Given the description of an element on the screen output the (x, y) to click on. 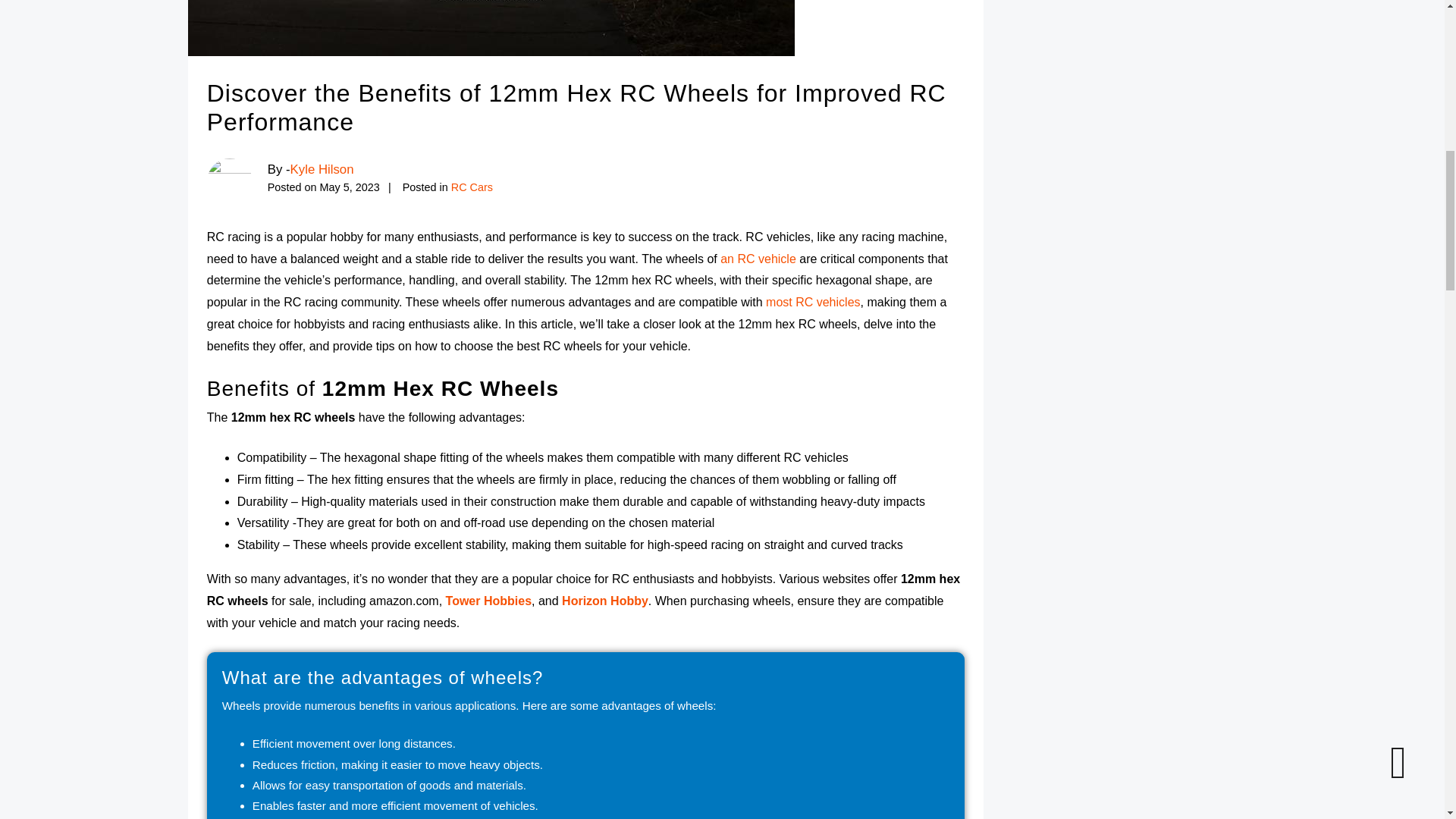
most RC vehicles (812, 301)
an RC vehicle (758, 258)
Kyle Hilson (321, 169)
RC Cars (472, 186)
Horizon Hobby (604, 600)
Tower Hobbies (488, 600)
